Given the description of an element on the screen output the (x, y) to click on. 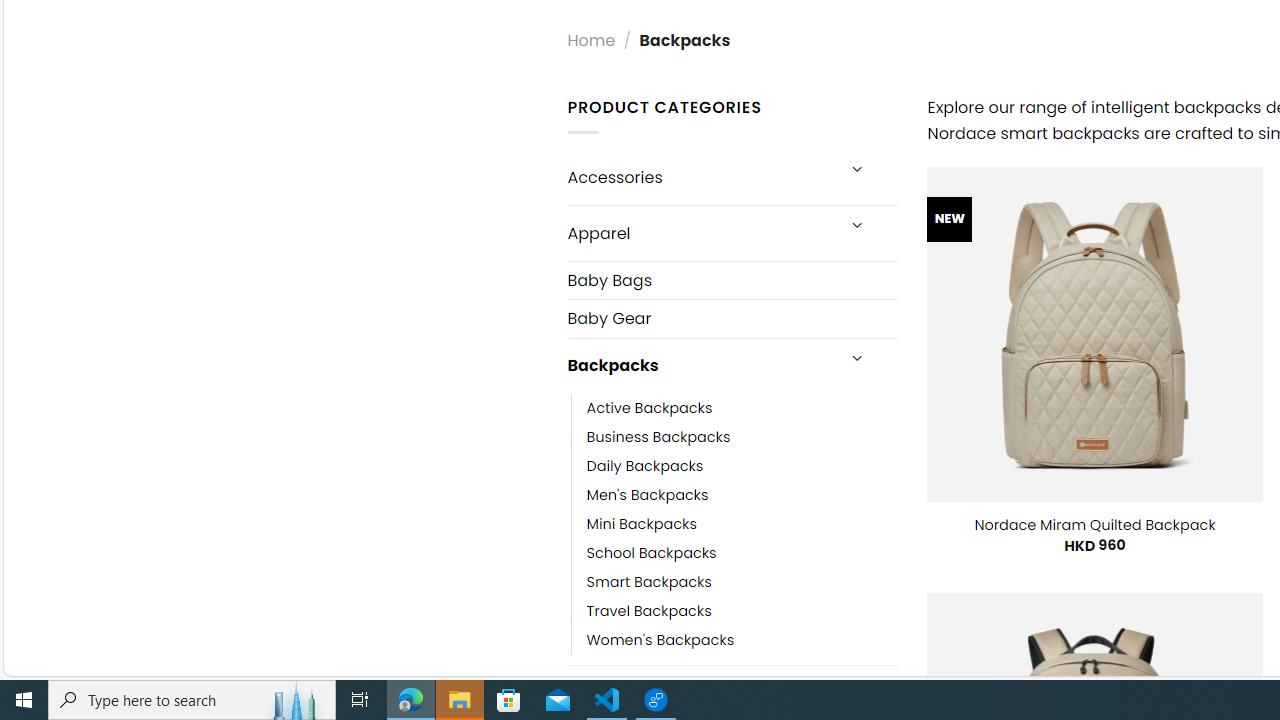
Baby Bags (732, 280)
Baby Gear (732, 318)
Baby Bags (732, 279)
Nordace Miram Quilted Backpack (1095, 524)
Apparel (700, 232)
Mini Backpacks (641, 524)
School Backpacks (651, 552)
Men's Backpacks (742, 494)
Bags (700, 692)
Daily Backpacks (742, 465)
Daily Backpacks (645, 465)
Active Backpacks (742, 408)
Men's Backpacks (647, 494)
Smart Backpacks (648, 581)
